Given the description of an element on the screen output the (x, y) to click on. 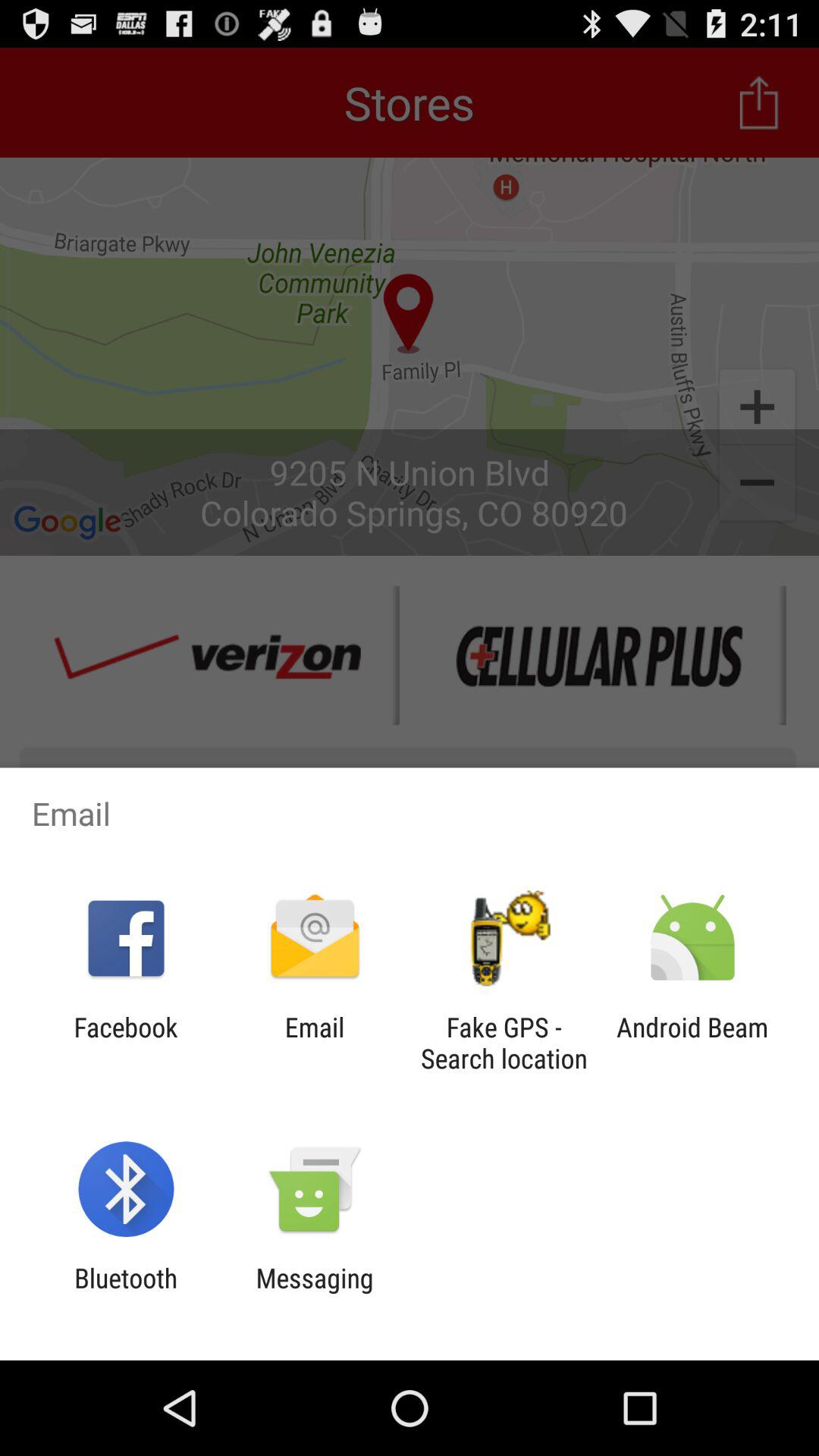
click the item next to the bluetooth icon (314, 1293)
